Given the description of an element on the screen output the (x, y) to click on. 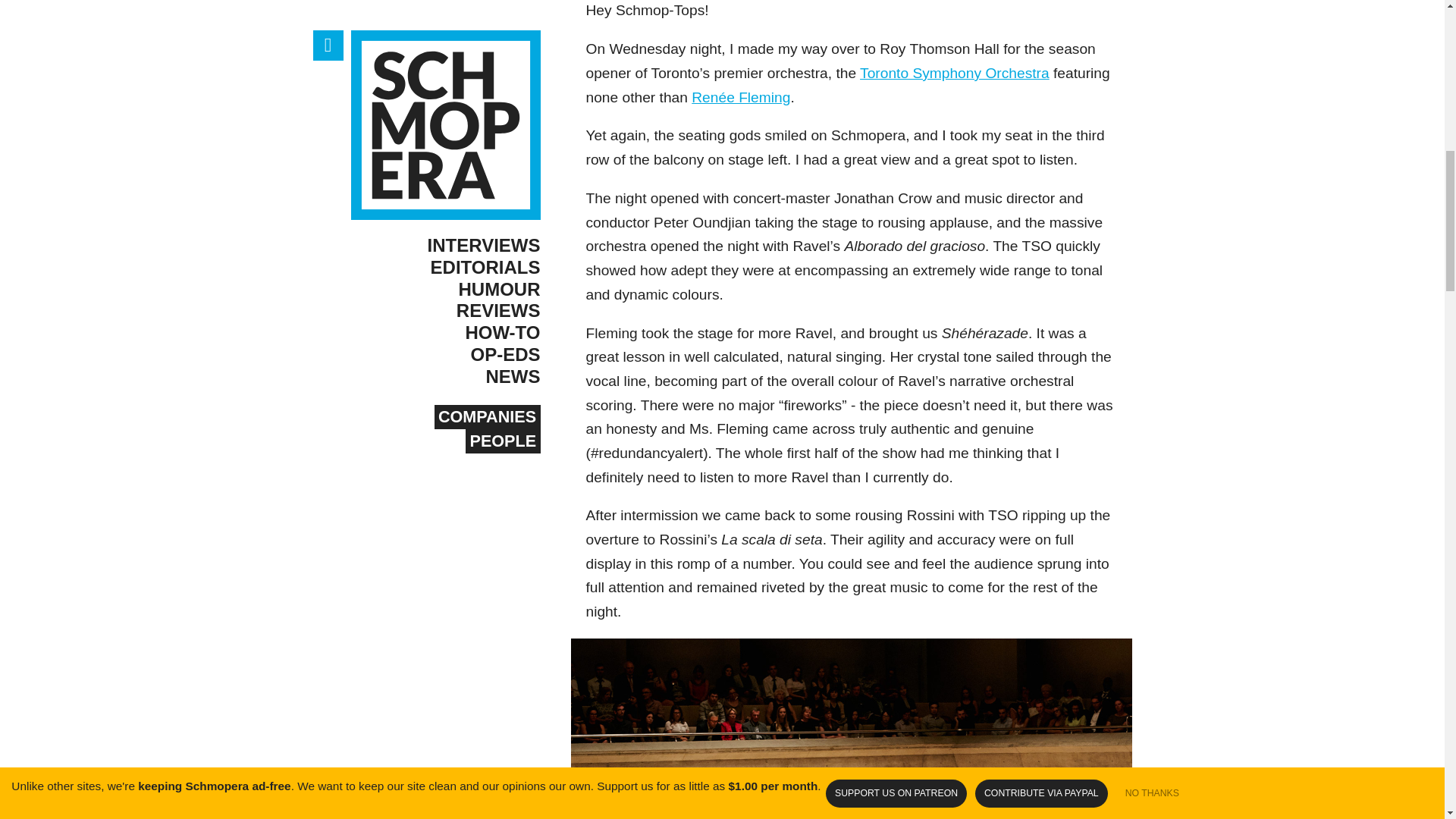
Toronto Symphony Orchestra (954, 73)
